Given the description of an element on the screen output the (x, y) to click on. 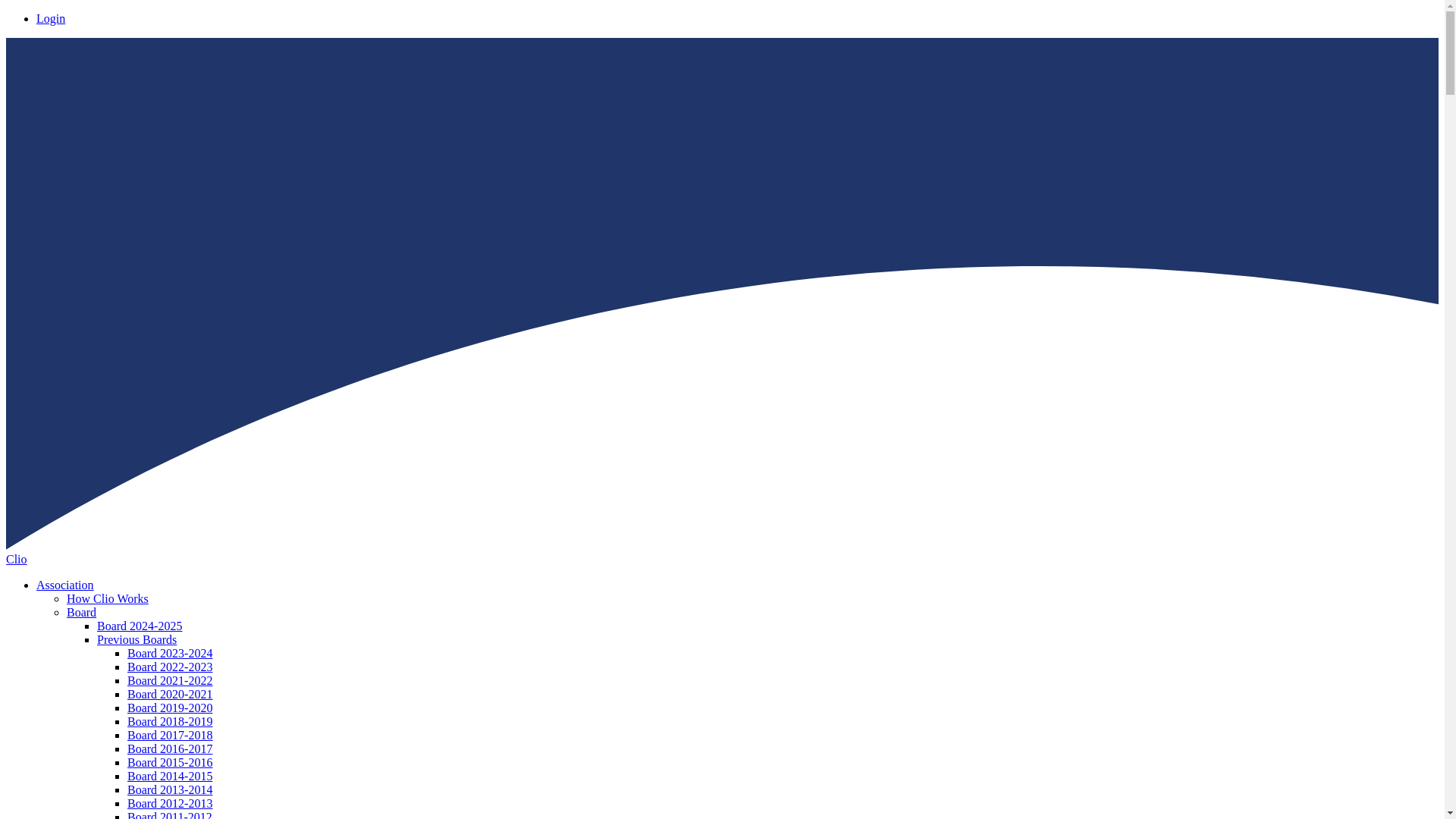
Login (50, 18)
Board 2014-2015 (170, 775)
Board 2019-2020 (170, 707)
Previous Boards (136, 639)
Association (65, 584)
Clio (16, 558)
Board 2022-2023 (170, 666)
Board 2020-2021 (170, 694)
Previous Boards (136, 639)
Board 2023-2024 (170, 653)
